Given the description of an element on the screen output the (x, y) to click on. 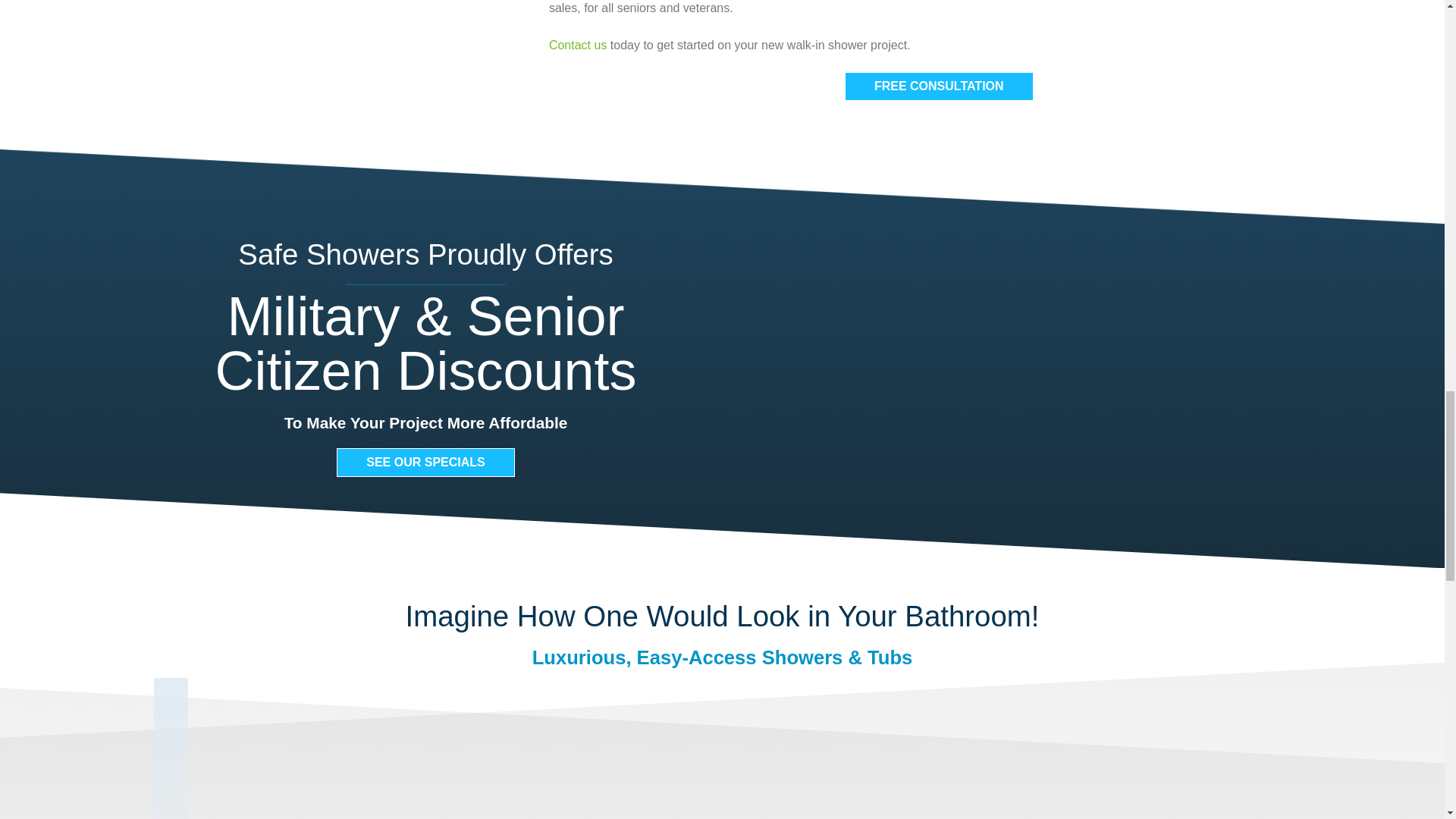
SEE OUR SPECIALS (425, 461)
Contact us (577, 44)
FREE CONSULTATION (938, 86)
